Given the description of an element on the screen output the (x, y) to click on. 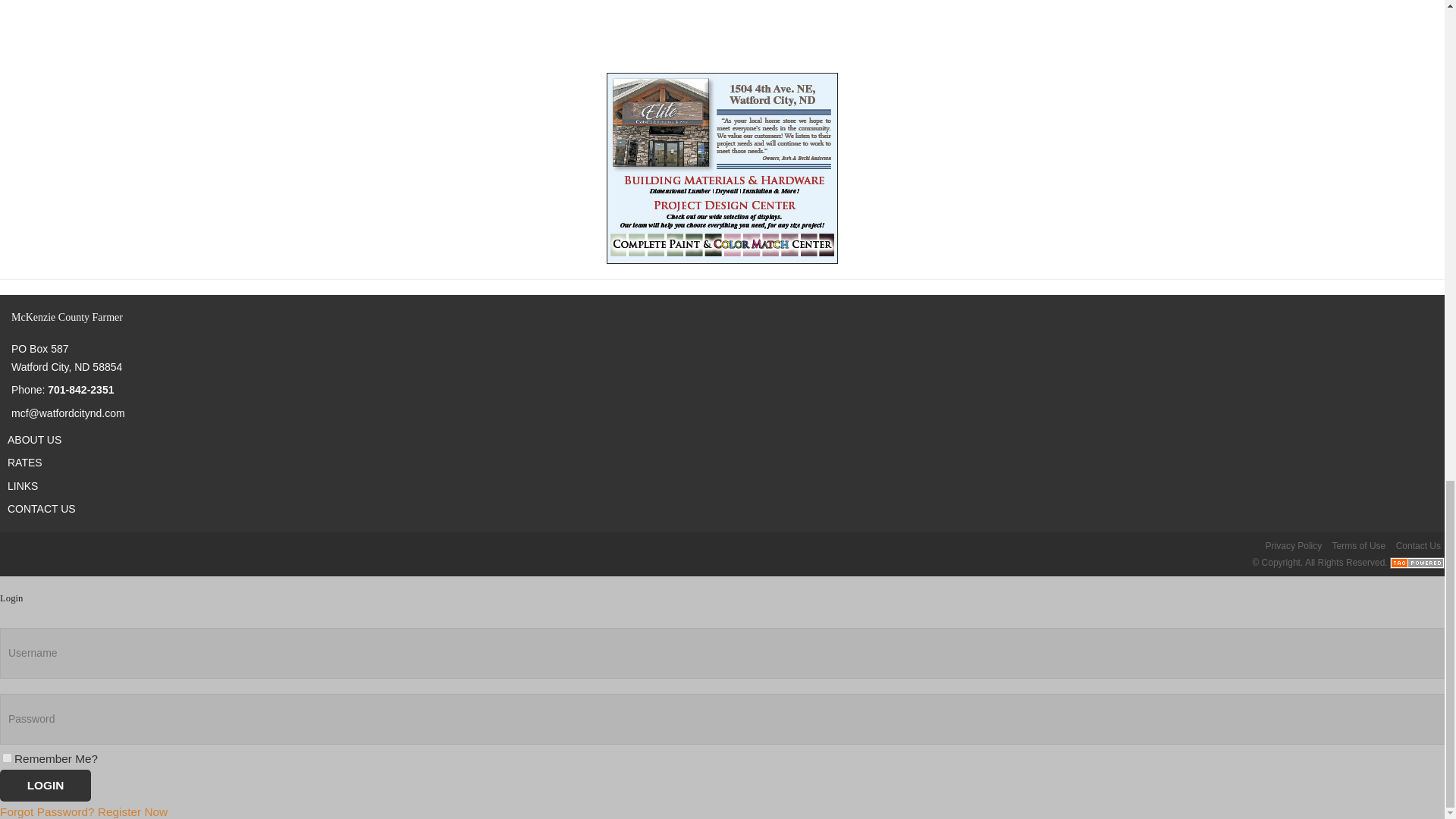
1 (6, 757)
Login (45, 785)
Weather Widget (722, 36)
